Given the description of an element on the screen output the (x, y) to click on. 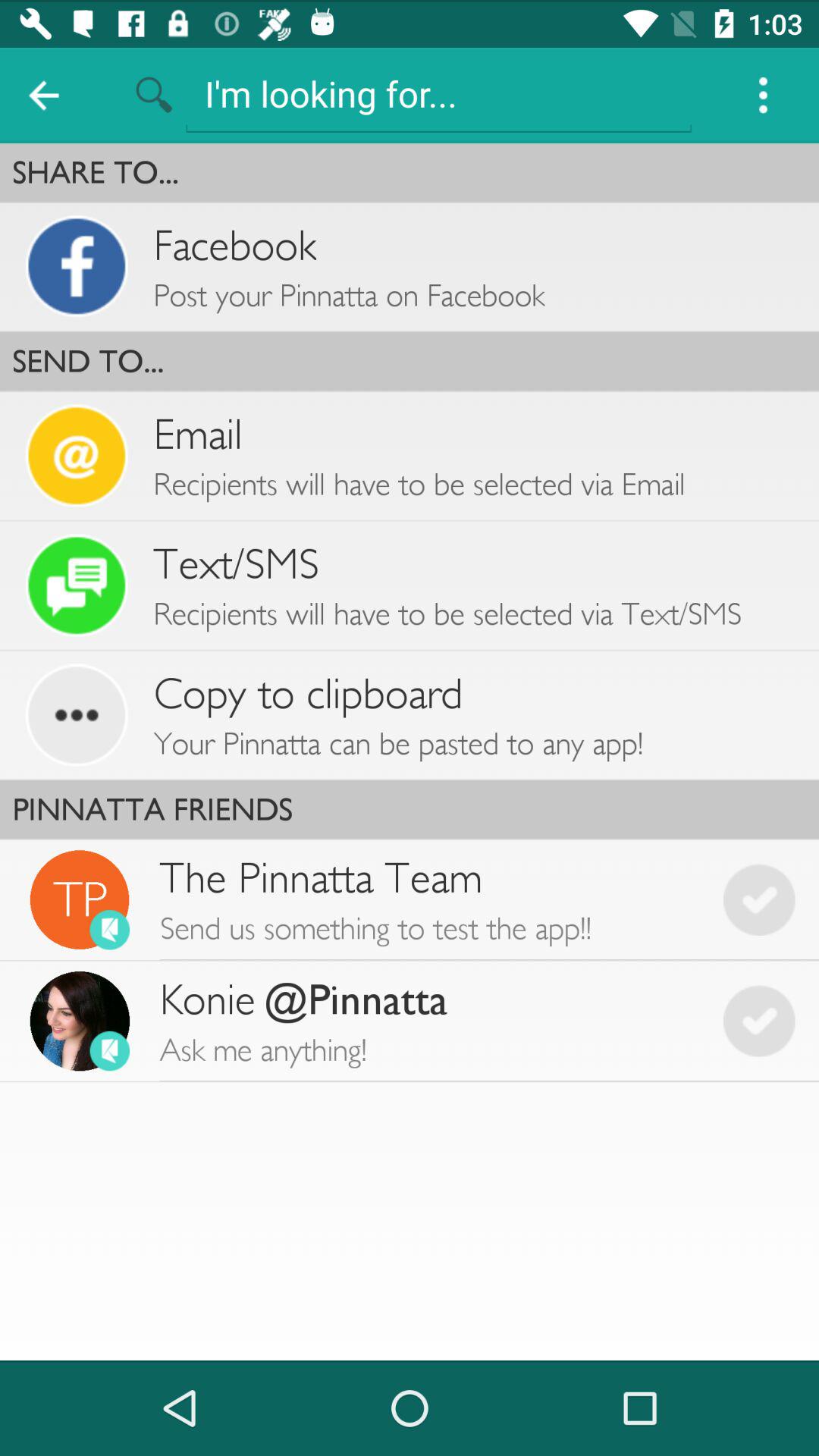
search (438, 93)
